Given the description of an element on the screen output the (x, y) to click on. 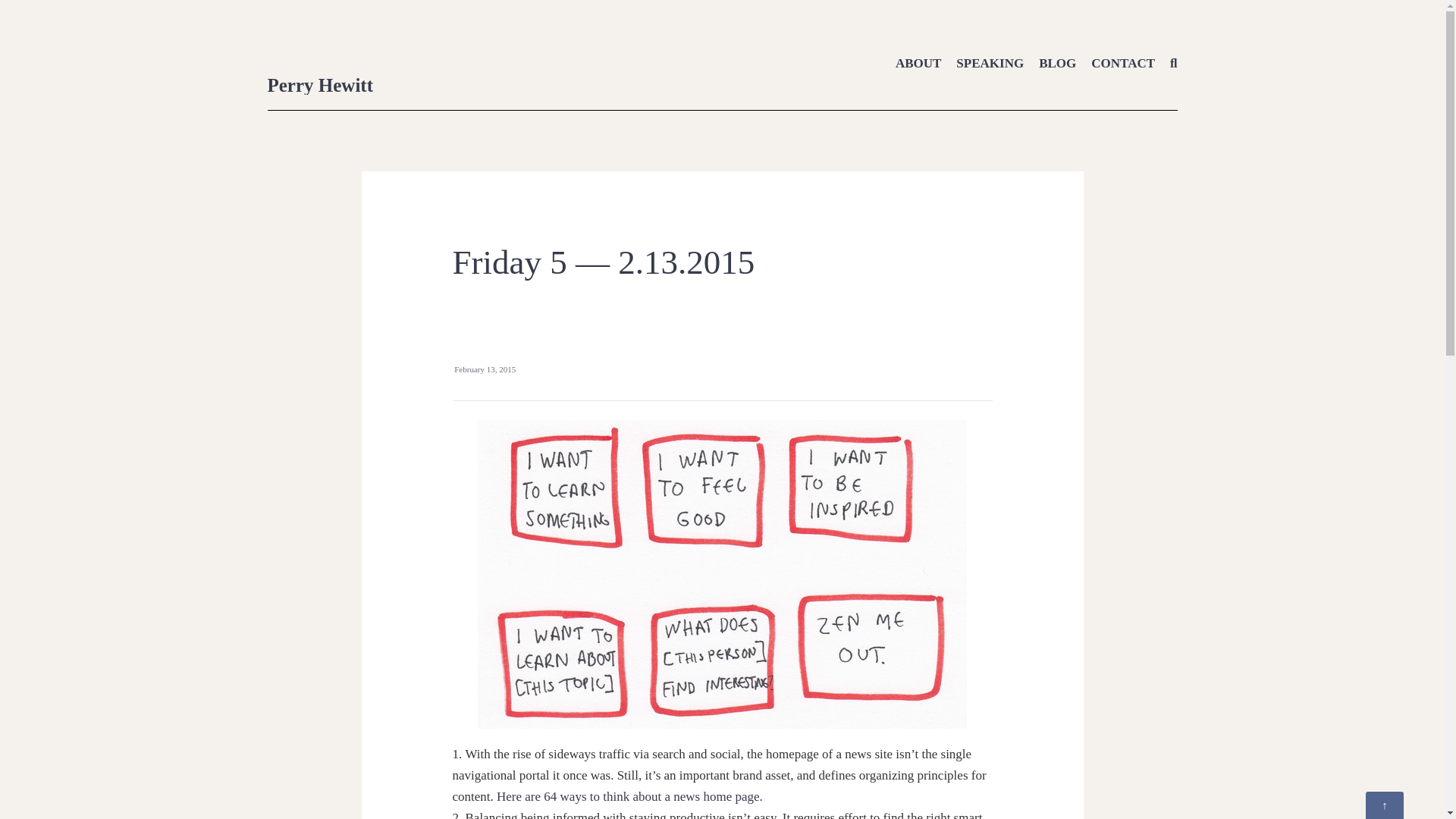
SPEAKING (989, 63)
Here are 64 ways to think about a news home page (628, 796)
Scroll to top (1384, 805)
ABOUT (918, 63)
Perry Hewitt (319, 85)
CONTACT (1122, 63)
BLOG (1056, 63)
